Given the description of an element on the screen output the (x, y) to click on. 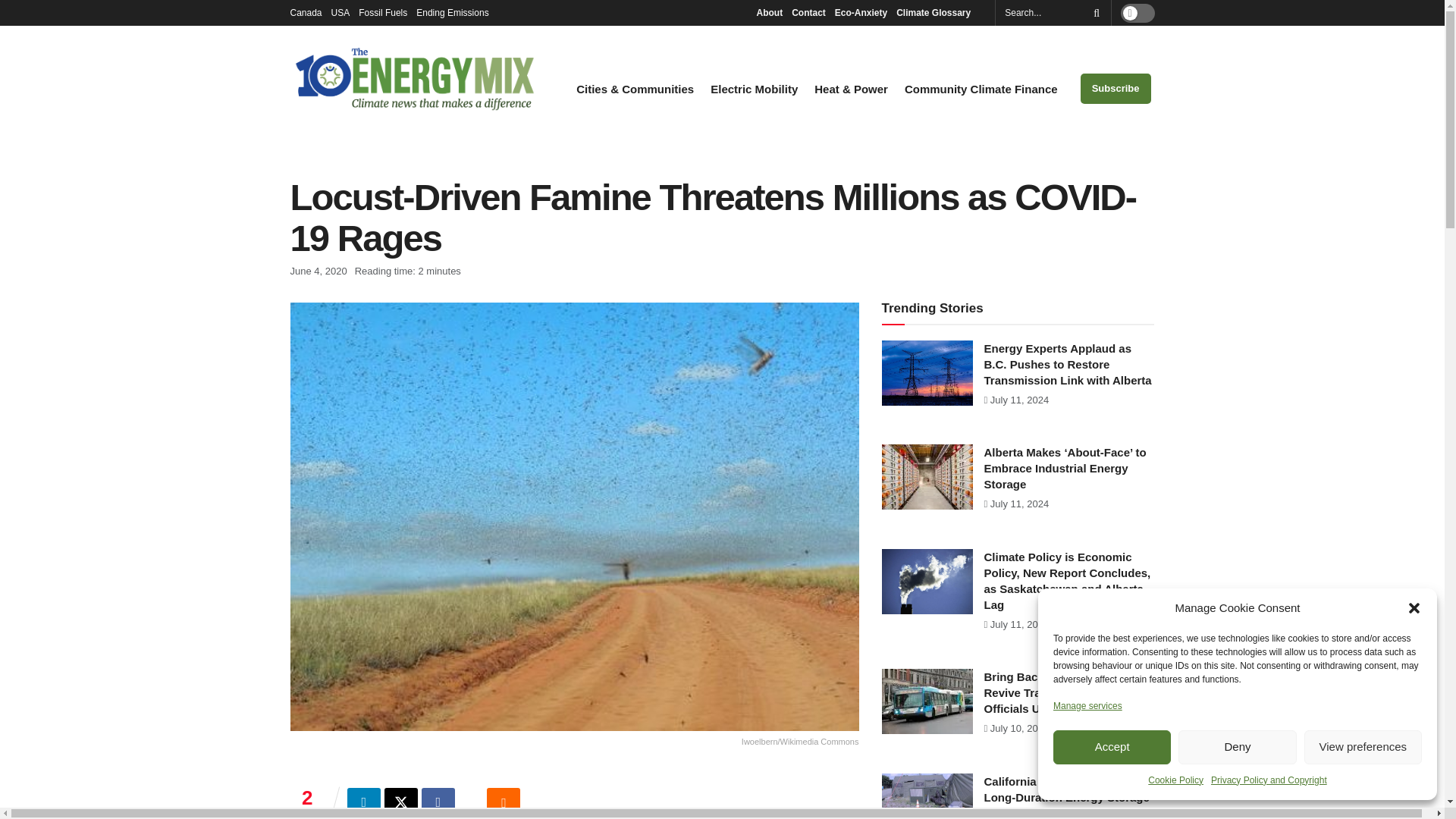
Contact (808, 12)
Fossil Fuels (382, 12)
Privacy Policy and Copyright (1268, 780)
Eco-Anxiety (860, 12)
Canada (305, 12)
Ending Emissions (456, 12)
Subscribe (1115, 88)
Climate Glossary (937, 12)
Community Climate Finance (981, 89)
View preferences (1363, 747)
Accept (1111, 747)
Cookie Policy (1176, 780)
Electric Mobility (753, 89)
About (769, 12)
Manage services (1087, 705)
